Given the description of an element on the screen output the (x, y) to click on. 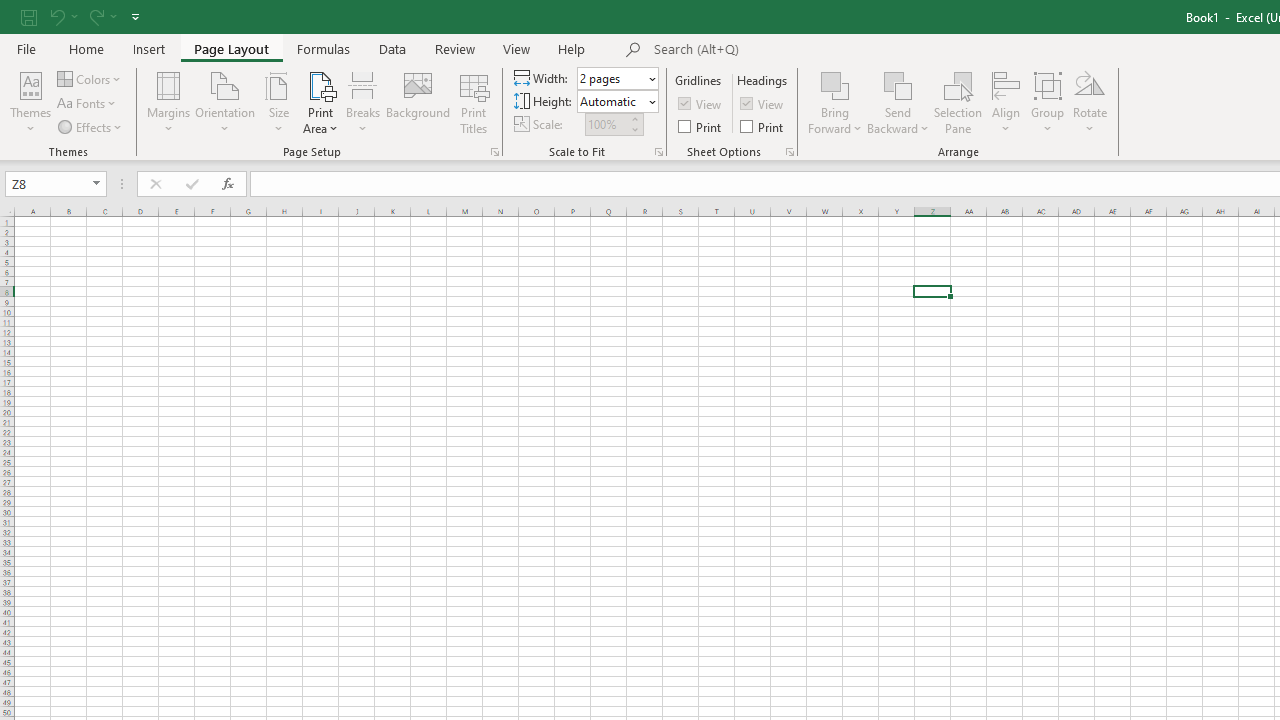
Orientation (225, 102)
Page Setup (658, 151)
Margins (168, 102)
Width (611, 78)
More (633, 118)
Fonts (87, 103)
Breaks (362, 102)
